Given the description of an element on the screen output the (x, y) to click on. 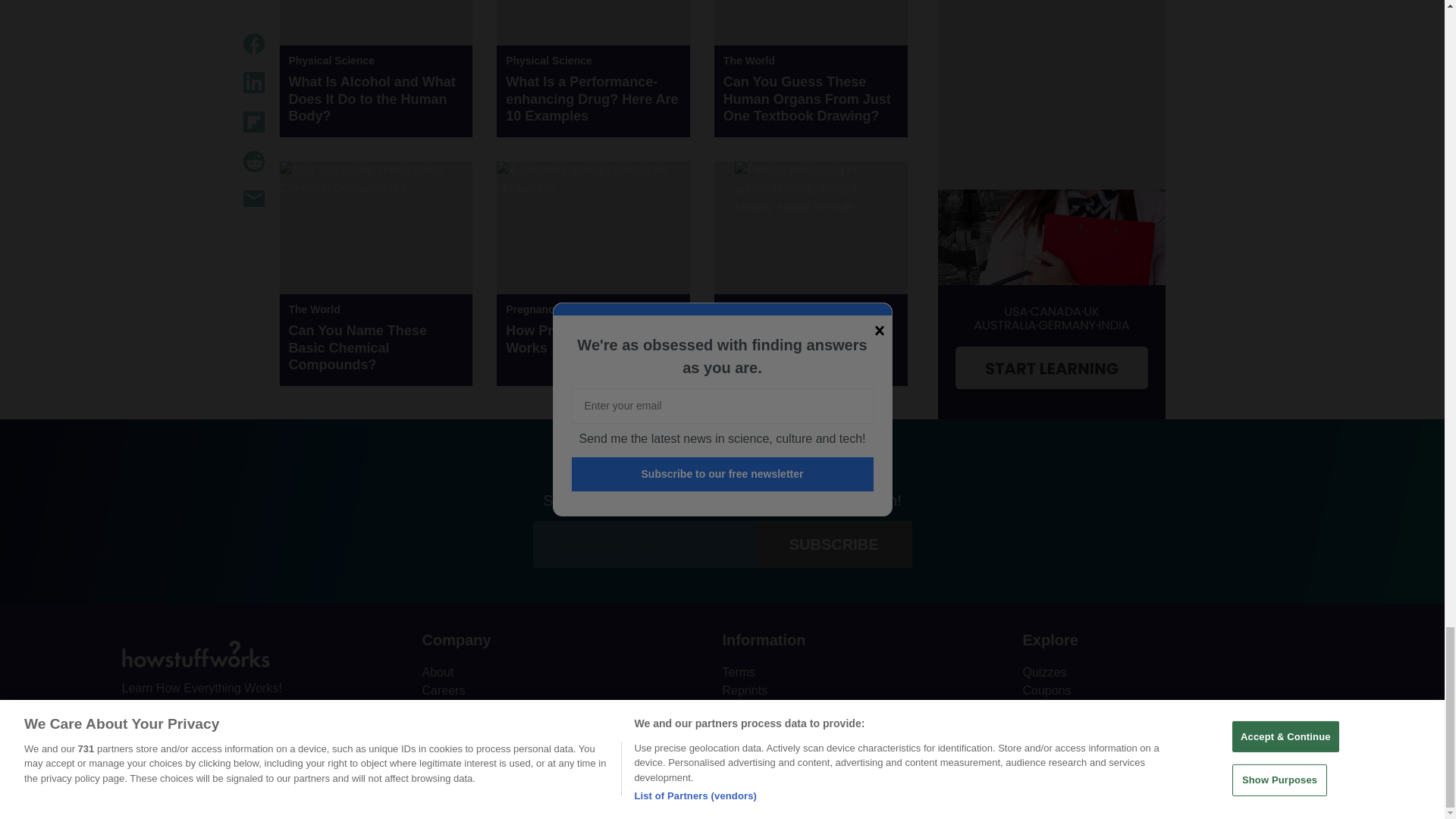
Subscribe (833, 544)
Visit HowStuffWorks on YouTube (173, 722)
Visit HowStuffWorks on Instagram (213, 723)
Visit HowStuffWorks on Facebook (134, 723)
